Given the description of an element on the screen output the (x, y) to click on. 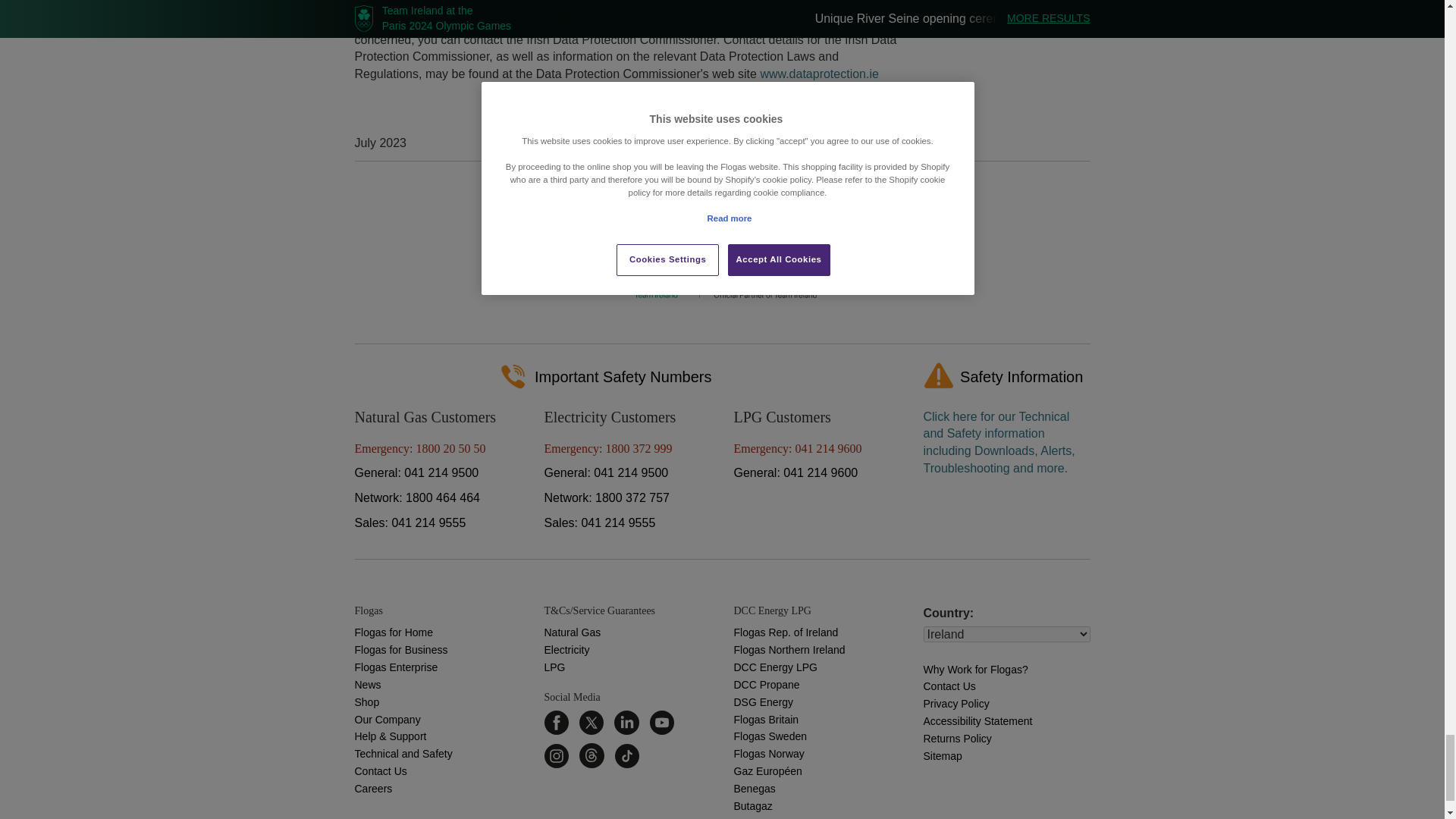
Follow Flogas on Tiktok for updates and much more! (626, 754)
Follow flogas on Linkedin for updates and much more! (626, 721)
Follow Flogas on instagram for updates and much more! (556, 754)
Follow Flogas on Twitter for updates, competitions and more! (591, 721)
Subscribe to Flogas on YouTube for updates and much more! (661, 721)
Follow Flogas on Threads for updates and much more! (591, 754)
